Given the description of an element on the screen output the (x, y) to click on. 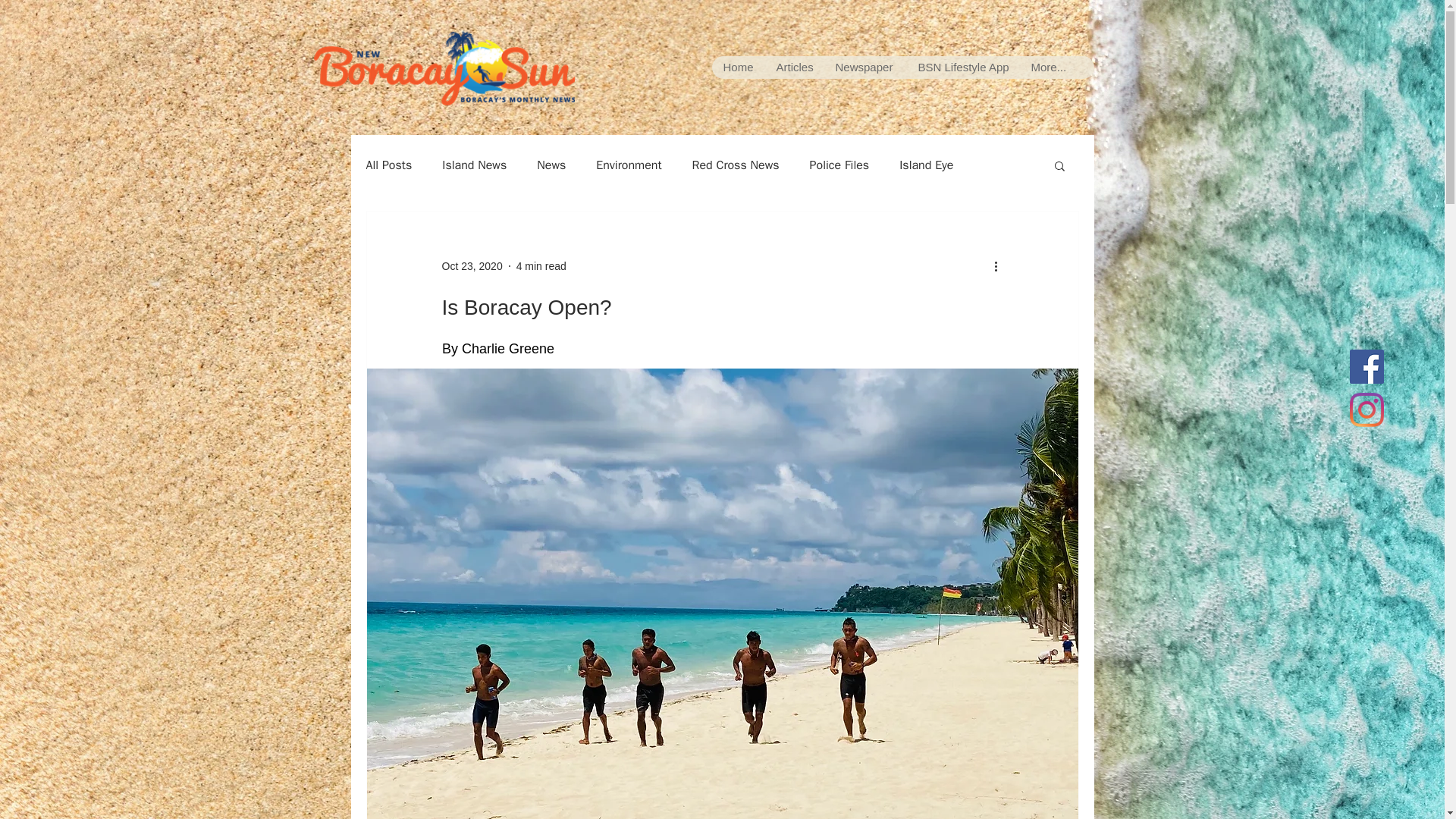
Newspaper (864, 67)
Environment (628, 165)
4 min read (541, 265)
Home (736, 67)
News (551, 165)
Island Eye (926, 165)
Articles (794, 67)
Island News (474, 165)
Oct 23, 2020 (471, 265)
Police Files (839, 165)
